Given the description of an element on the screen output the (x, y) to click on. 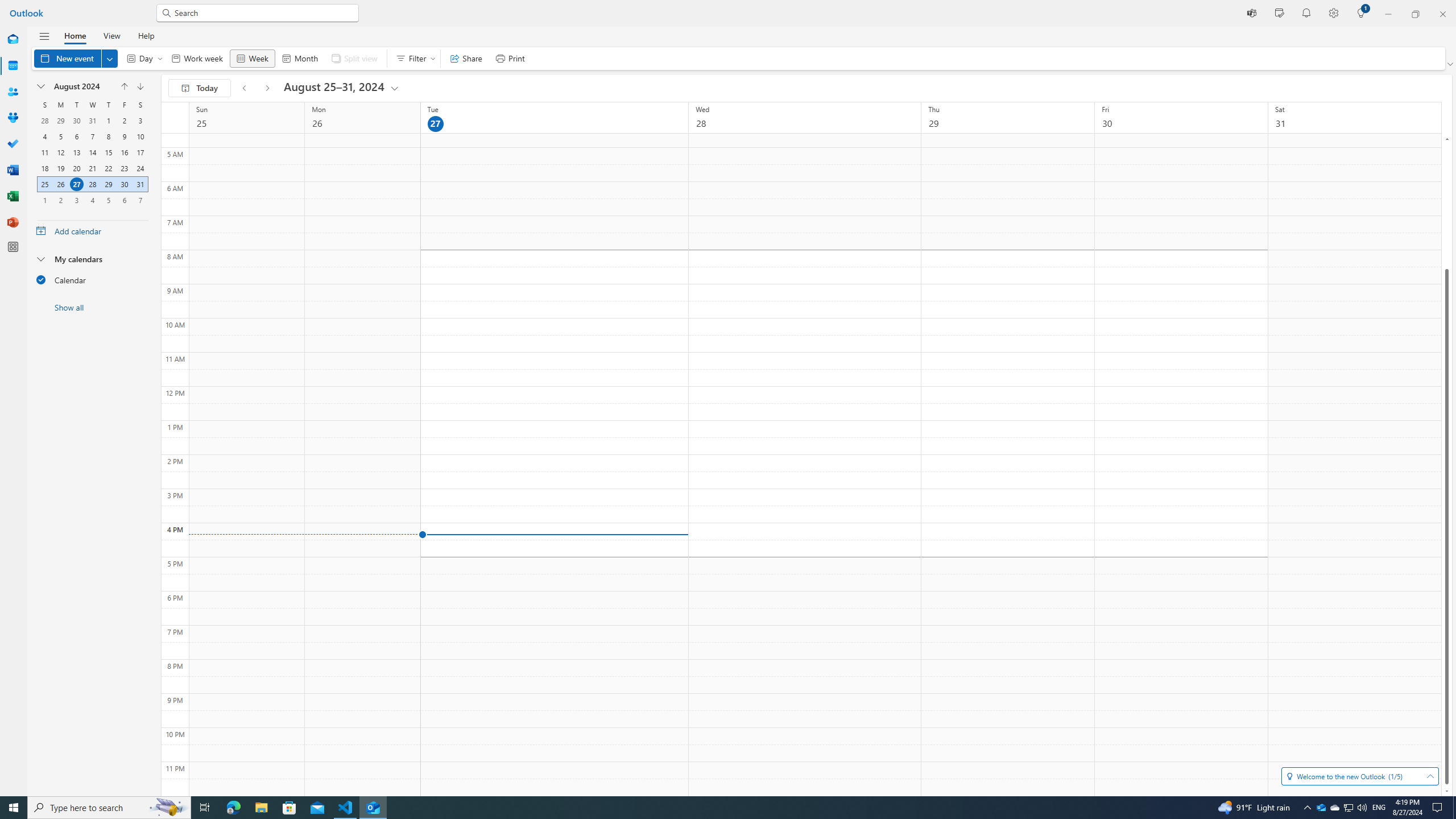
August 2024, select to change the month (82, 86)
My calendars (92, 258)
8, August, 2024 (108, 136)
11, August, 2024 (44, 151)
23, August, 2024 (124, 168)
Hide navigation pane (44, 36)
Go to today August 27, 2024 (199, 88)
Mail (12, 39)
7, August, 2024 (92, 136)
Work week (197, 58)
2, September, 2024 (59, 200)
1, August, 2024 (108, 120)
